Given the description of an element on the screen output the (x, y) to click on. 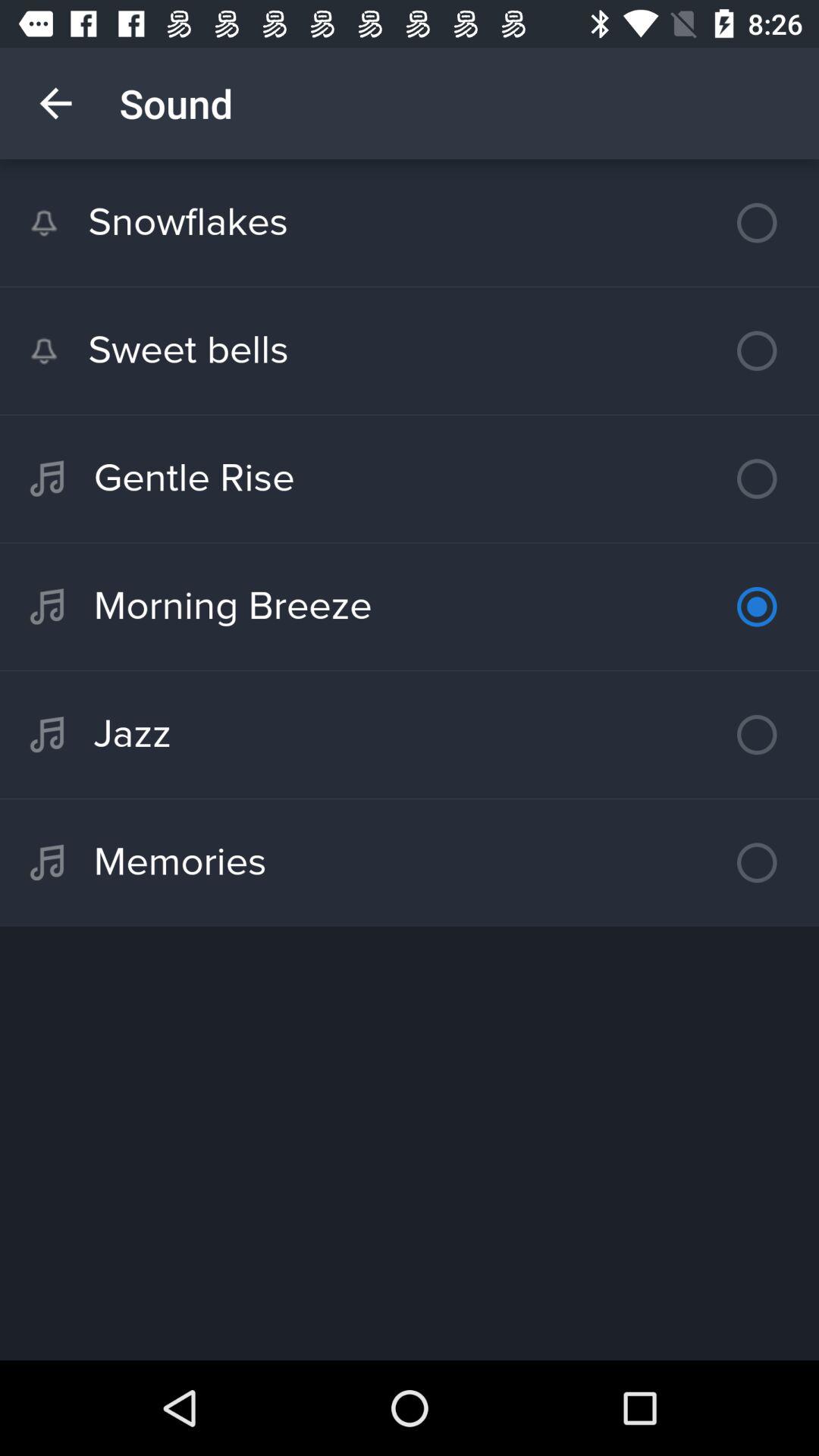
click icon below the morning breeze icon (409, 734)
